Given the description of an element on the screen output the (x, y) to click on. 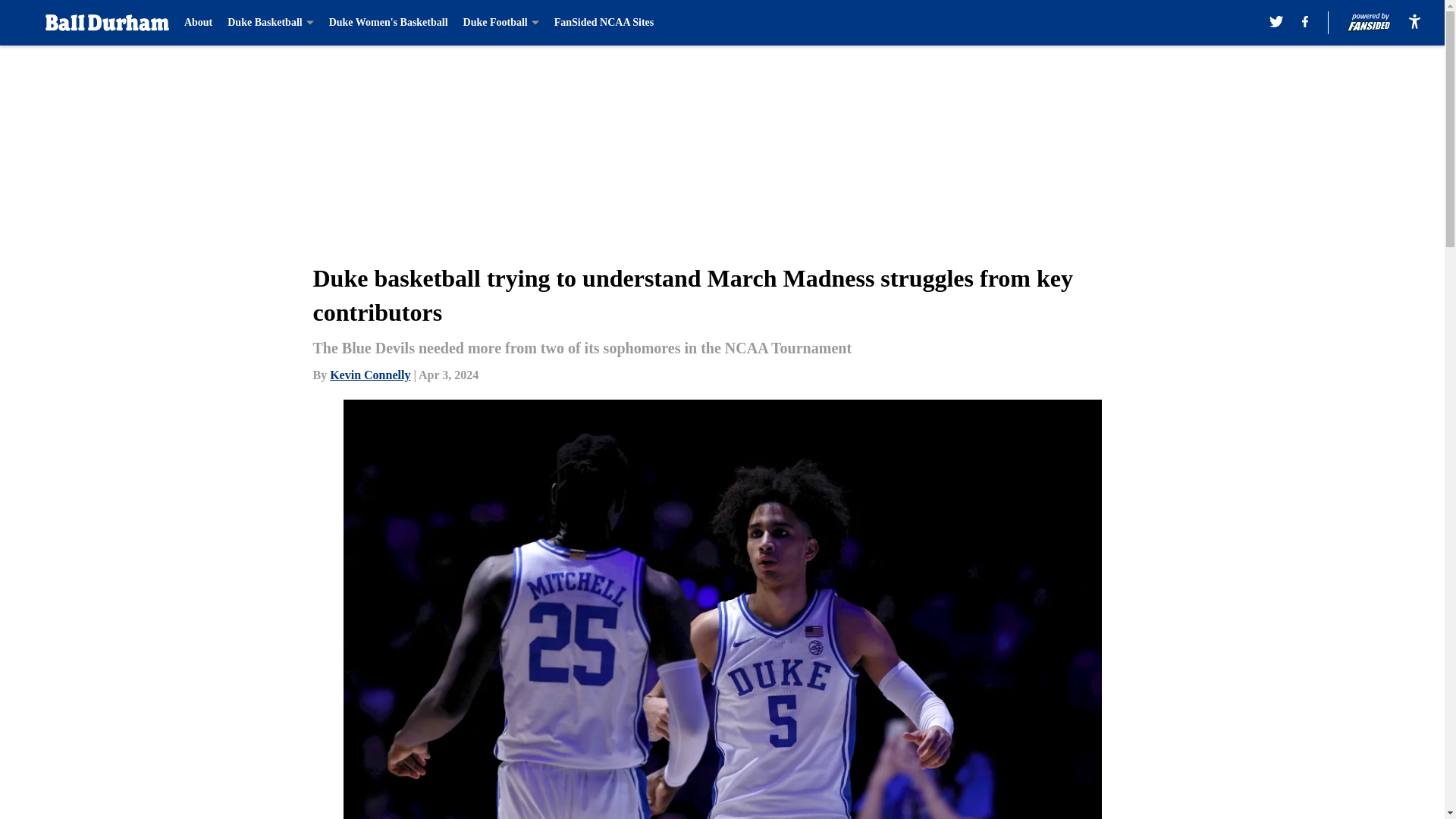
Duke Women's Basketball (388, 22)
FanSided NCAA Sites (603, 22)
Kevin Connelly (370, 374)
About (198, 22)
